Given the description of an element on the screen output the (x, y) to click on. 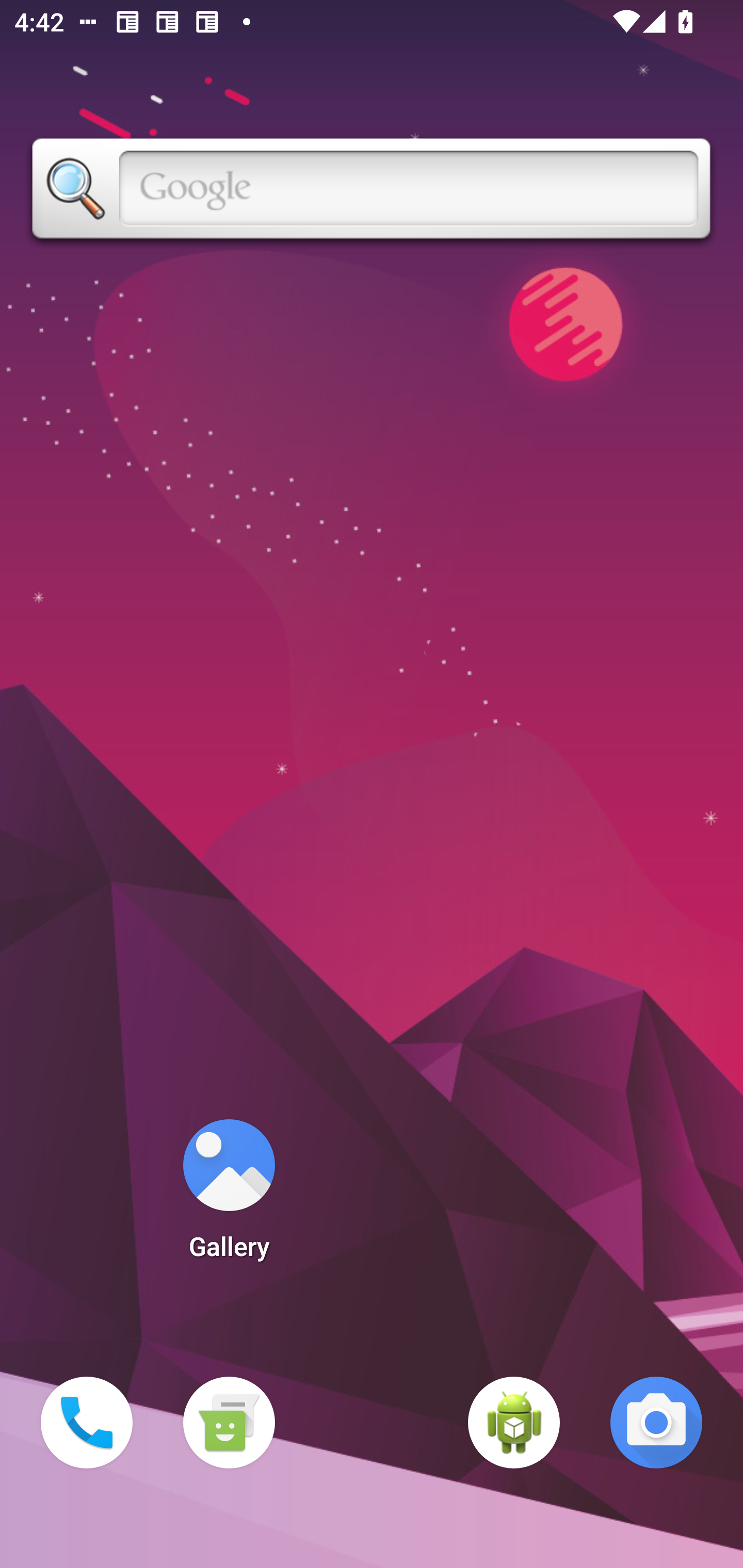
Gallery (228, 1195)
Phone (86, 1422)
Messaging (228, 1422)
WebView Browser Tester (513, 1422)
Camera (656, 1422)
